Given the description of an element on the screen output the (x, y) to click on. 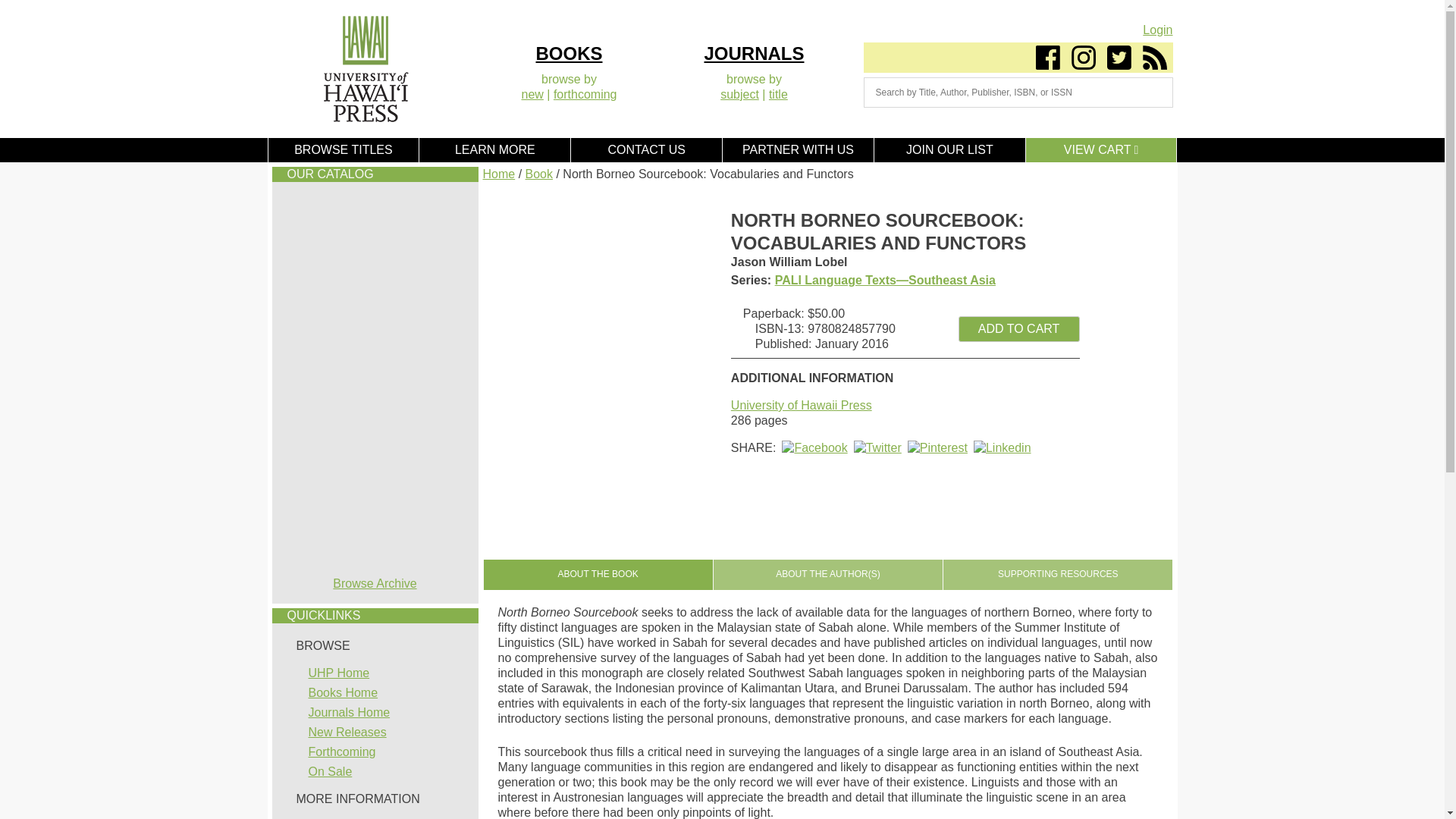
Login (1157, 29)
JOURNALS (753, 53)
LEARN MORE (494, 150)
forthcoming (585, 93)
title (777, 93)
new (532, 93)
BOOKS (568, 53)
subject (739, 93)
BROWSE TITLES (343, 150)
CONTACT US (646, 150)
